Given the description of an element on the screen output the (x, y) to click on. 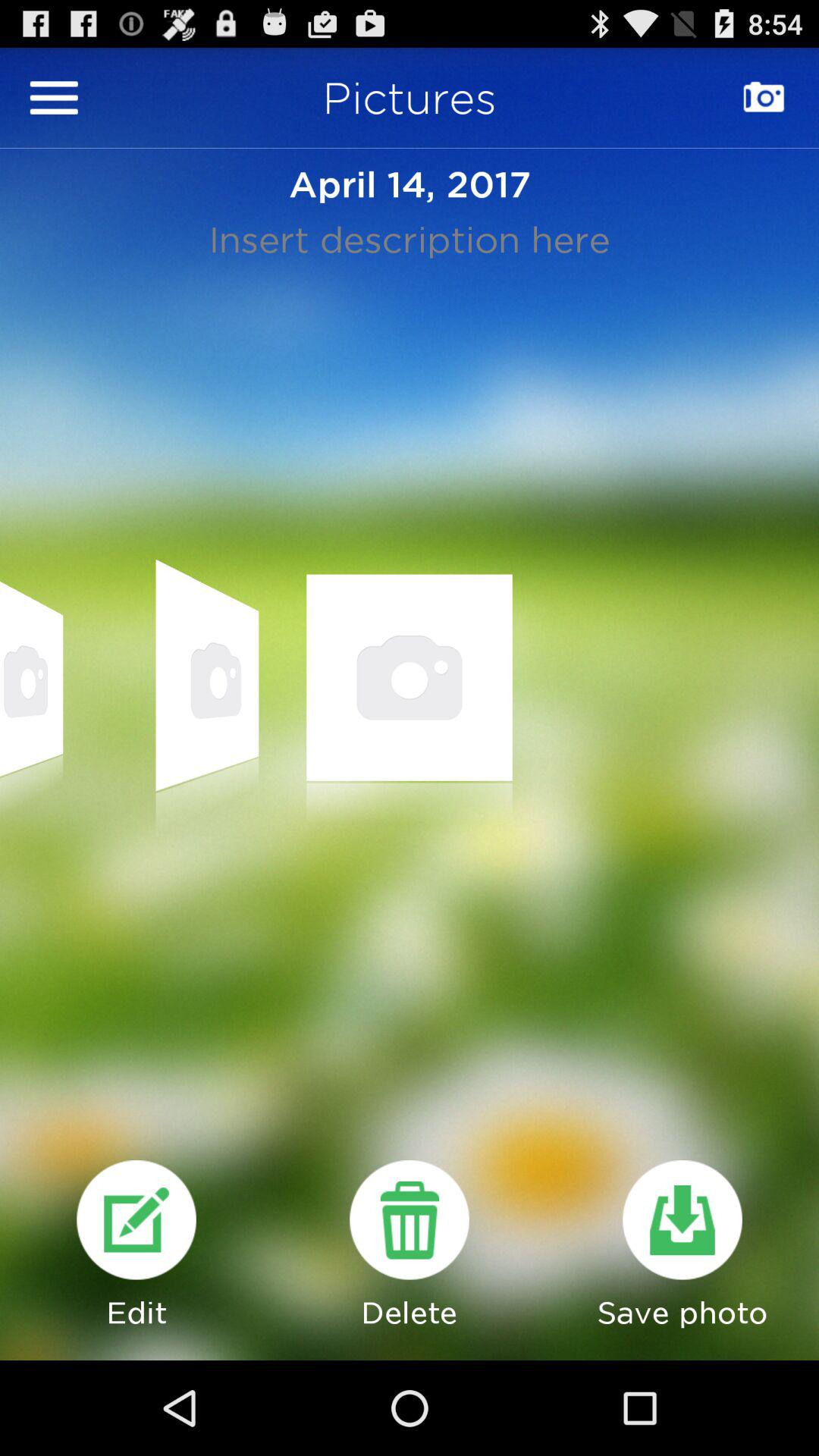
save photo (682, 1219)
